Given the description of an element on the screen output the (x, y) to click on. 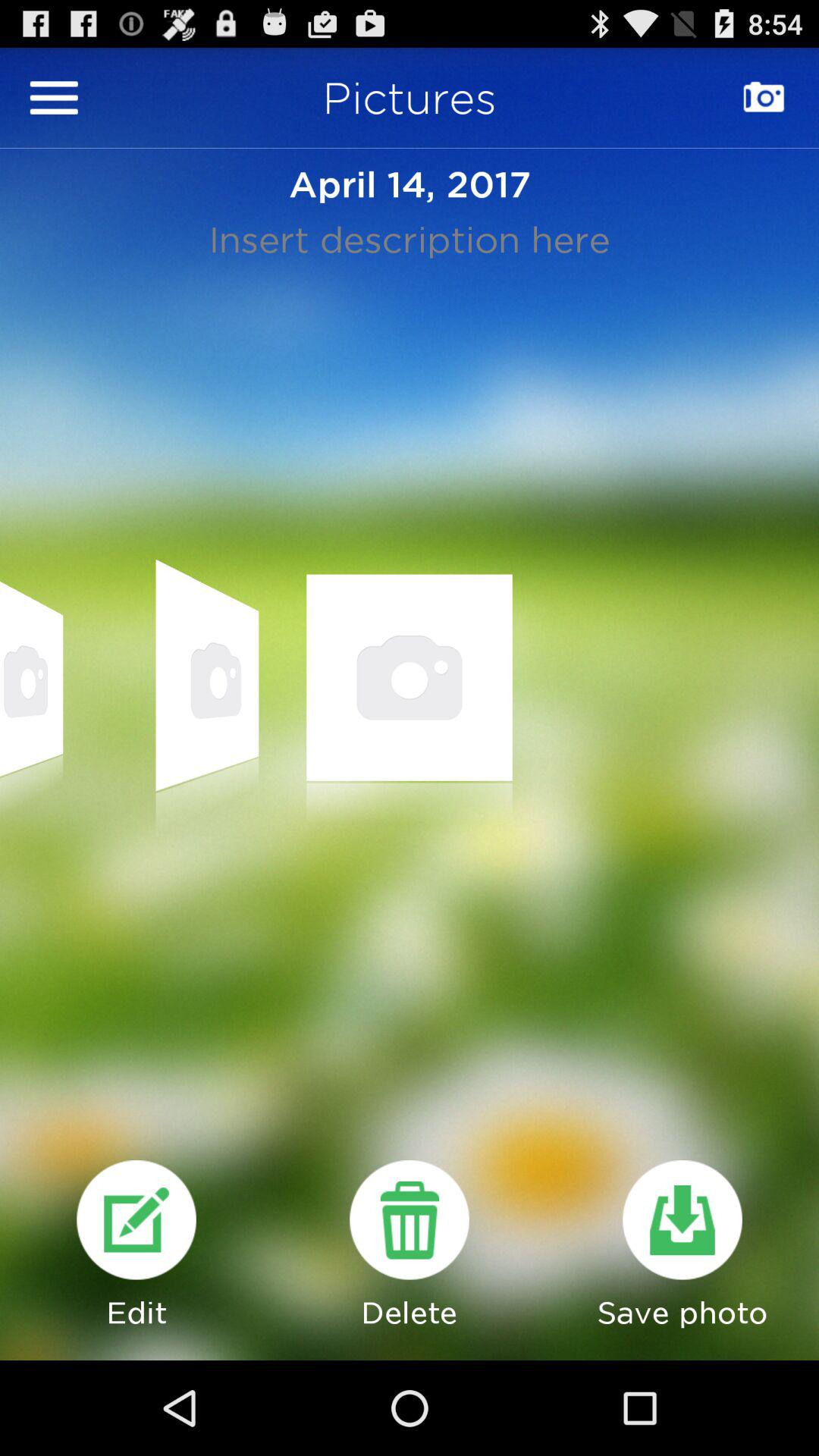
save photo (682, 1219)
